Given the description of an element on the screen output the (x, y) to click on. 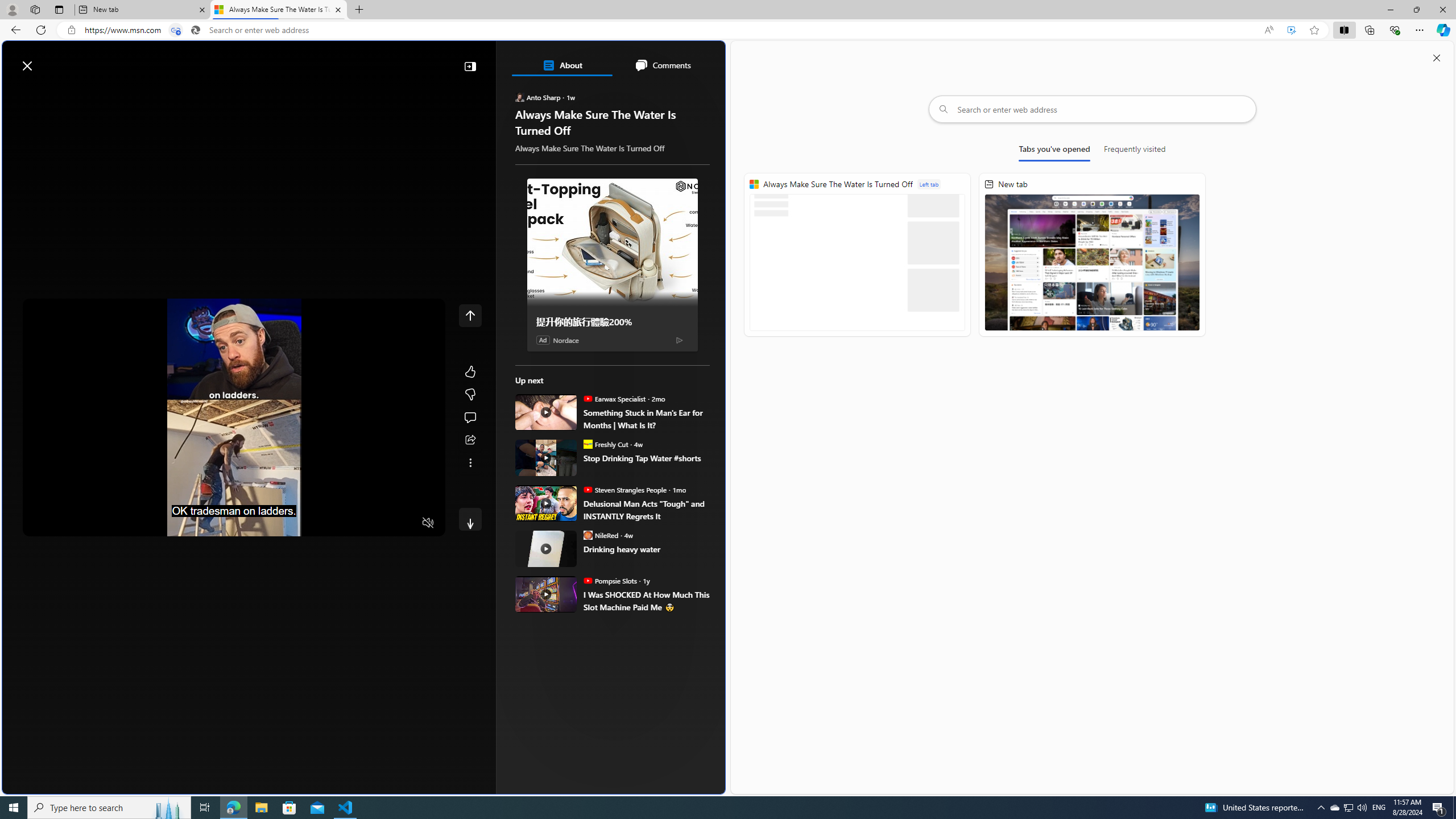
Watch (145, 92)
Delusional Man Acts "Tough" and INSTANTLY Regrets It (646, 509)
Something Stuck in Man's Ear for Months | What Is It? (545, 411)
Discover (52, 92)
Quality Settings (360, 523)
Earwax Specialist Earwax Specialist (614, 397)
Restore (1416, 9)
Tab actions menu (58, 9)
Earwax Specialist (587, 397)
Address and search bar (669, 29)
The Associated Press (554, 366)
Ad (542, 339)
